Given the description of an element on the screen output the (x, y) to click on. 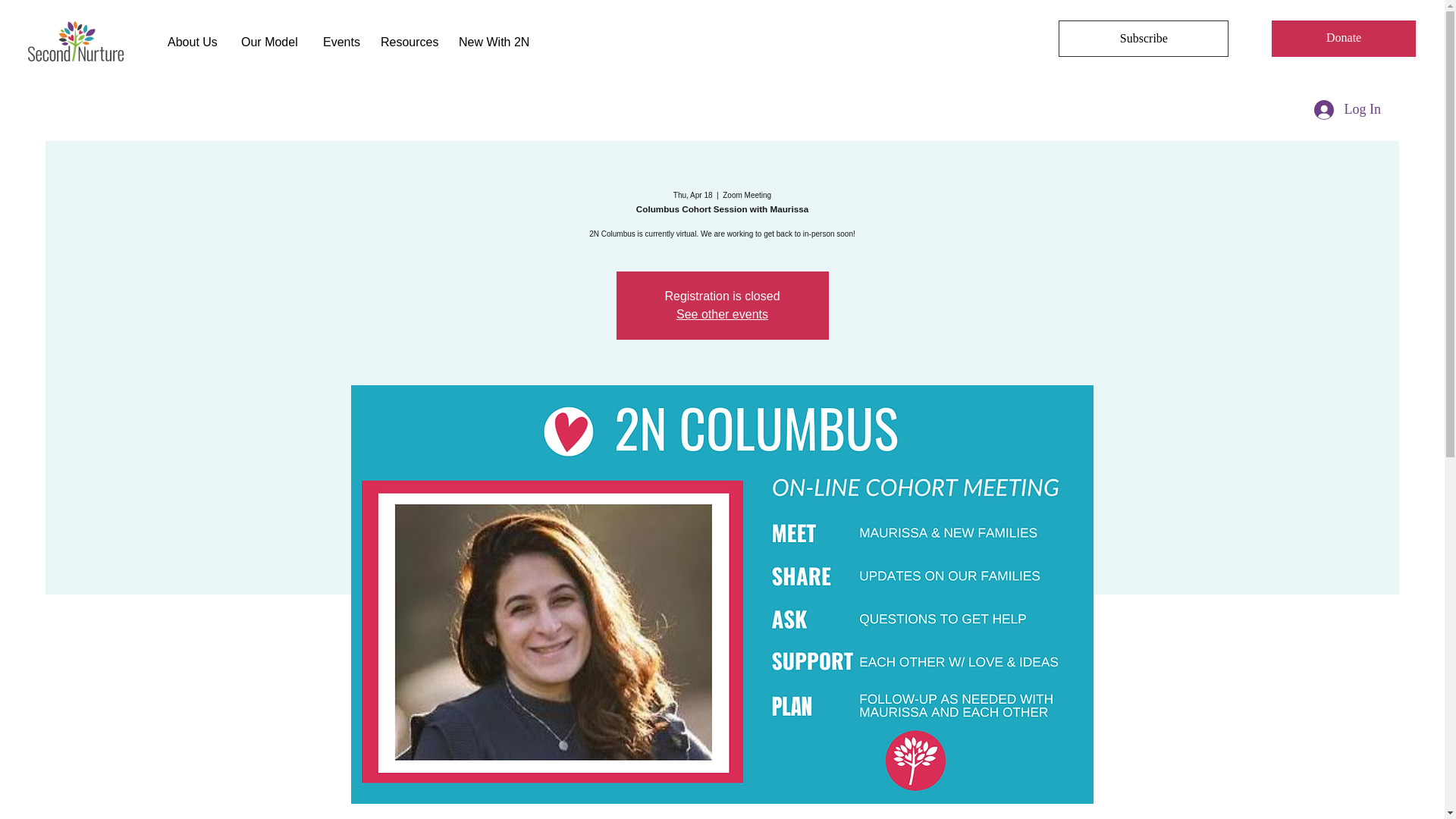
Our Model (270, 42)
Events (340, 42)
About Us (192, 42)
See other events (722, 314)
Donate (1343, 38)
Log In (1347, 109)
Resources (407, 42)
Subscribe (1143, 38)
